Given the description of an element on the screen output the (x, y) to click on. 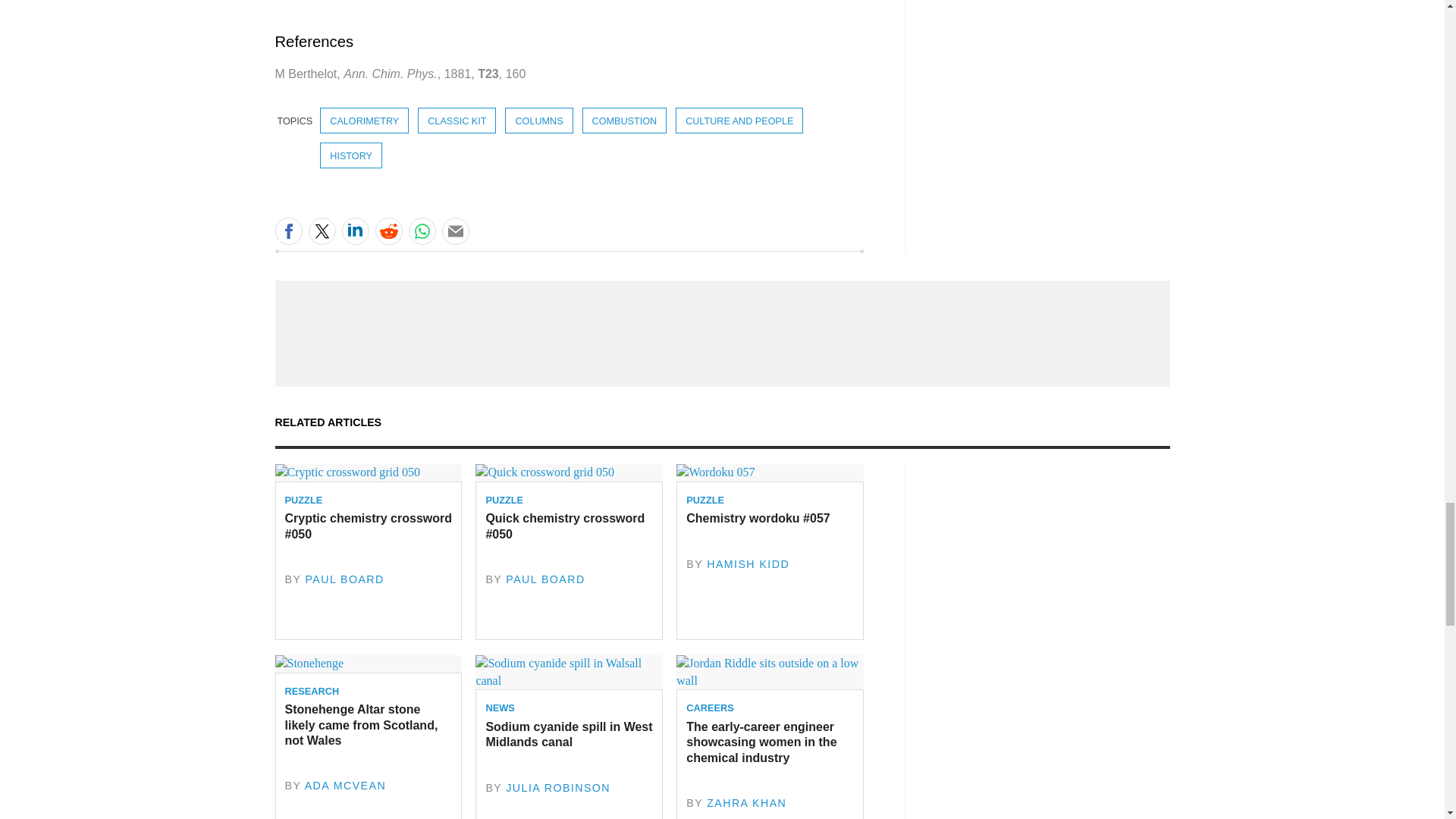
Share this on Reddit (387, 230)
Share this on Facebook (288, 230)
Share this on LinkedIn (354, 230)
Share this by email (454, 230)
Share this on WhatsApp (421, 230)
